Given the description of an element on the screen output the (x, y) to click on. 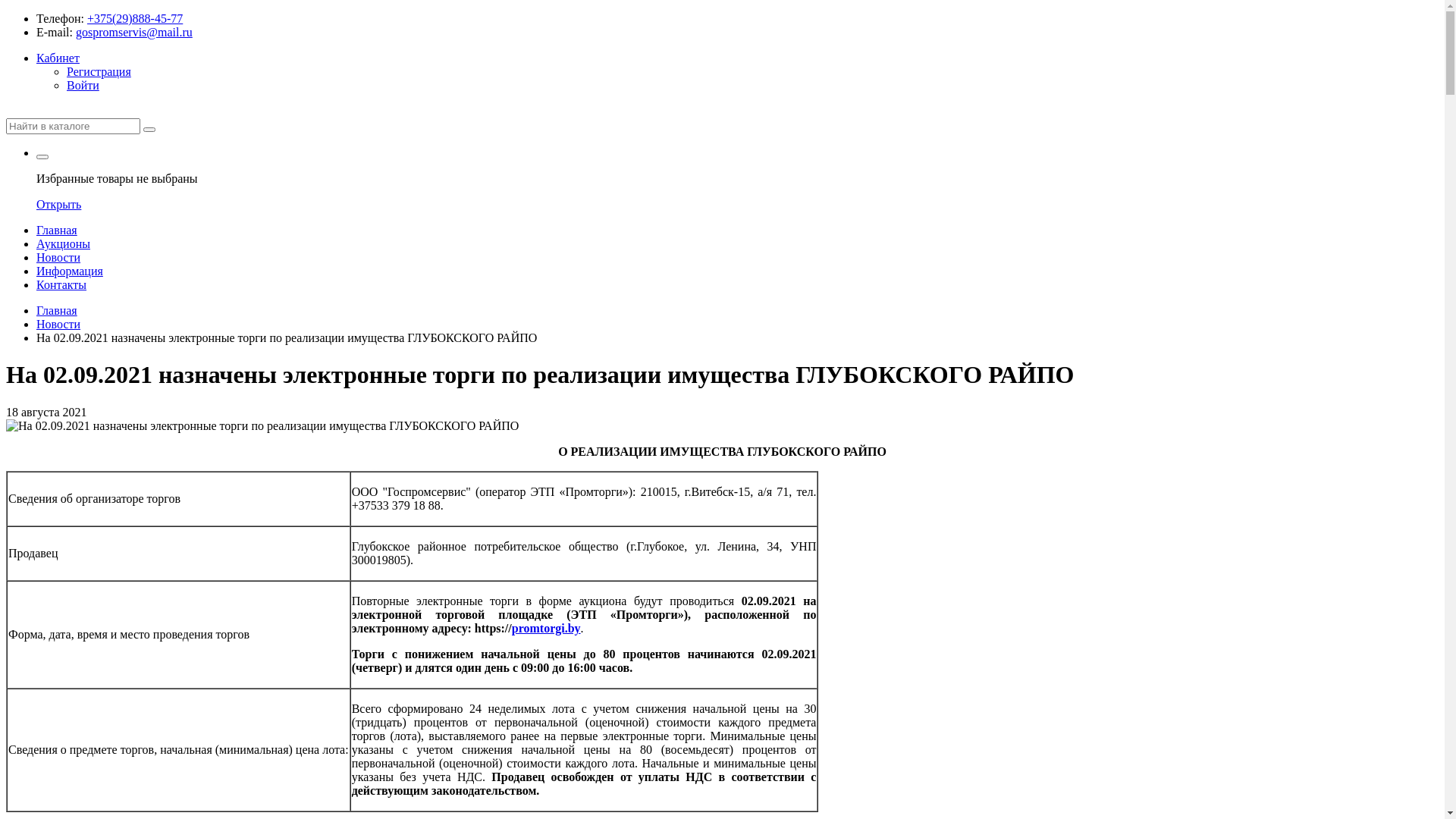
promtorgi.by Element type: text (545, 627)
+375(29)888-45-77 Element type: text (134, 18)
gospromservis@mail.ru Element type: text (133, 31)
